Given the description of an element on the screen output the (x, y) to click on. 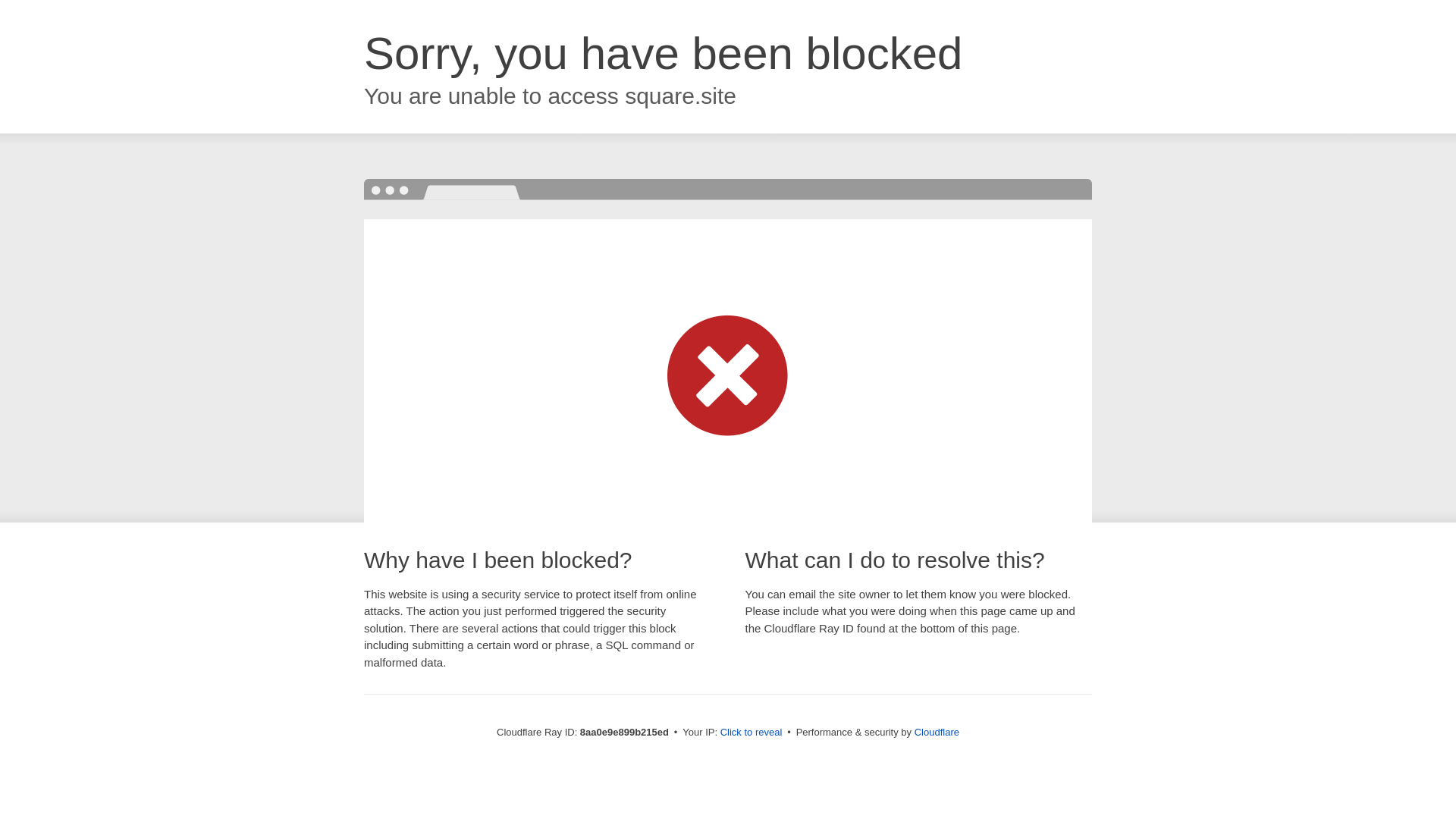
Click to reveal (751, 732)
Cloudflare (936, 731)
